Given the description of an element on the screen output the (x, y) to click on. 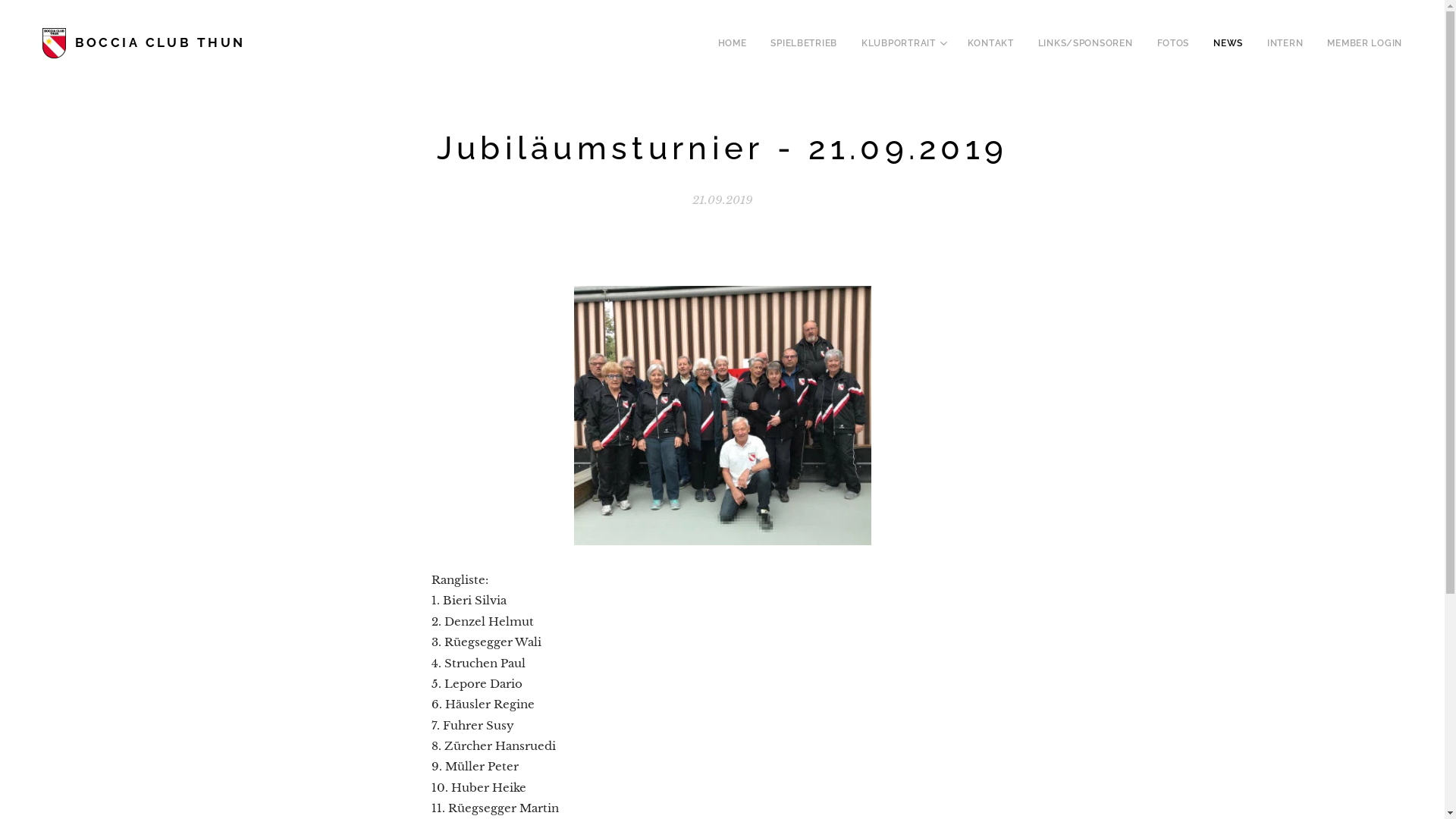
FOTOS Element type: text (1173, 43)
MEMBER LOGIN Element type: text (1358, 43)
NEWS Element type: text (1228, 43)
HOME Element type: text (736, 43)
INTERN Element type: text (1284, 43)
SPIELBETRIEB Element type: text (803, 43)
KONTAKT Element type: text (990, 43)
LINKS/SPONSOREN Element type: text (1085, 43)
BOCCIA CLUB THUN Element type: text (144, 42)
KLUBPORTRAIT Element type: text (902, 43)
